Given the description of an element on the screen output the (x, y) to click on. 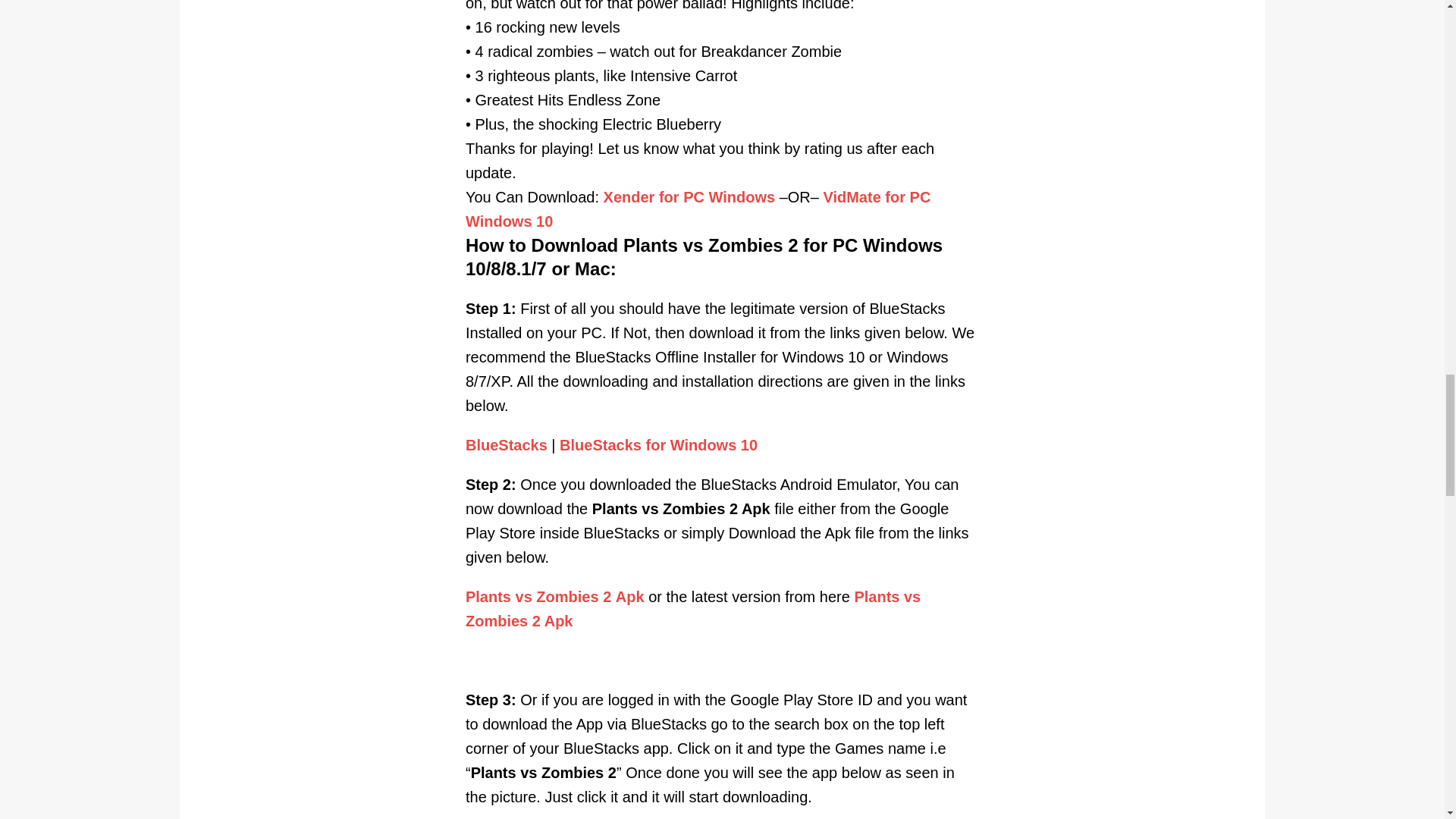
Plants vs Zombies 2 Apk (692, 608)
Xender for PC Windows (690, 197)
BlueStacks (506, 444)
BlueStacks for Windows 10 (658, 444)
Plants vs Zombies 2 Apk (555, 596)
VidMate for PC Windows 10 (697, 209)
